Given the description of an element on the screen output the (x, y) to click on. 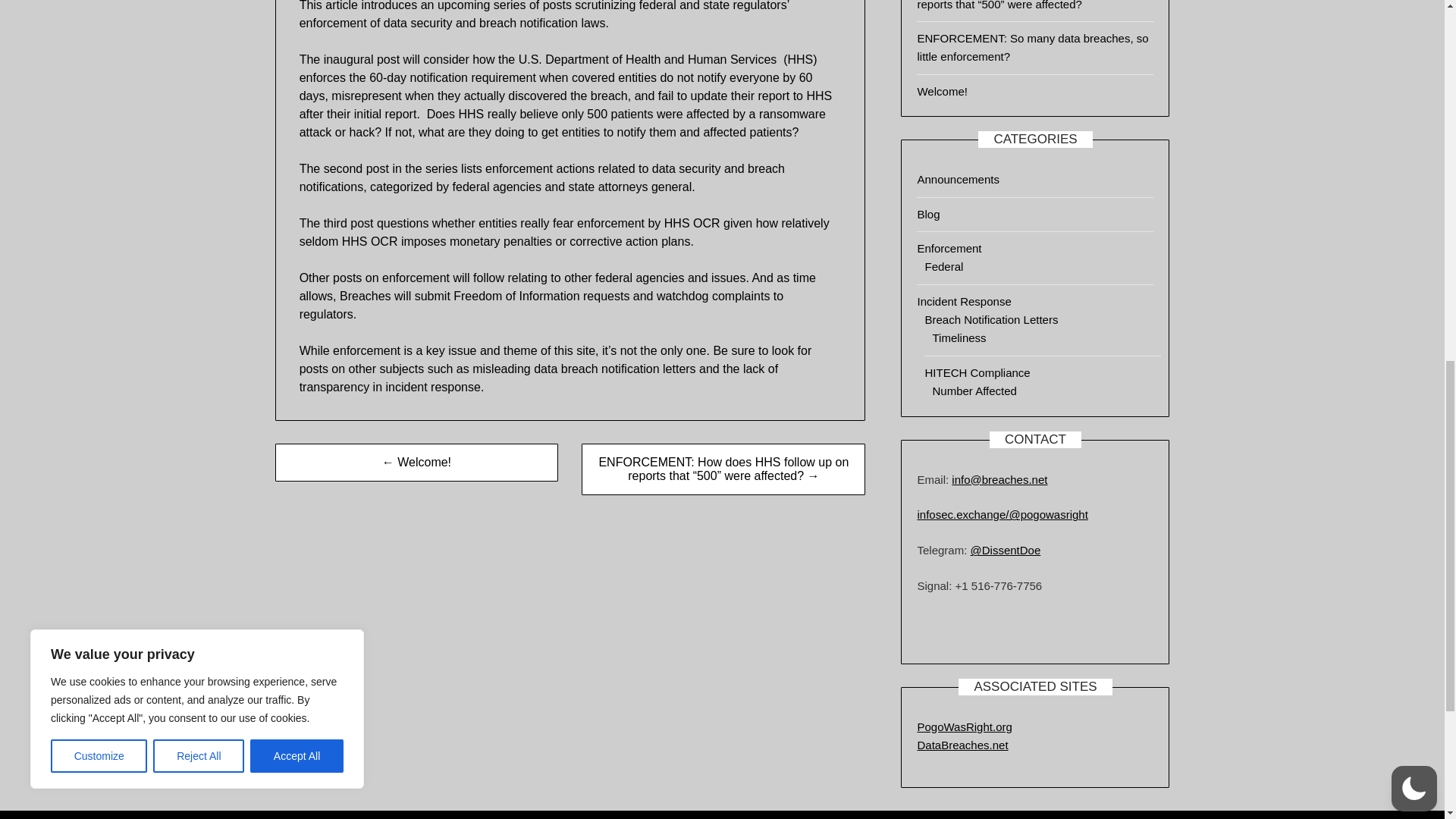
Welcome! (941, 91)
Breach Notification Letters (991, 318)
Enforcement (949, 247)
Timeliness (958, 337)
Incident Response (963, 300)
Number Affected (973, 390)
HITECH Compliance (976, 372)
Federal (943, 266)
Announcements (957, 178)
ENFORCEMENT: So many data breaches, so little enforcement? (1032, 47)
